Given the description of an element on the screen output the (x, y) to click on. 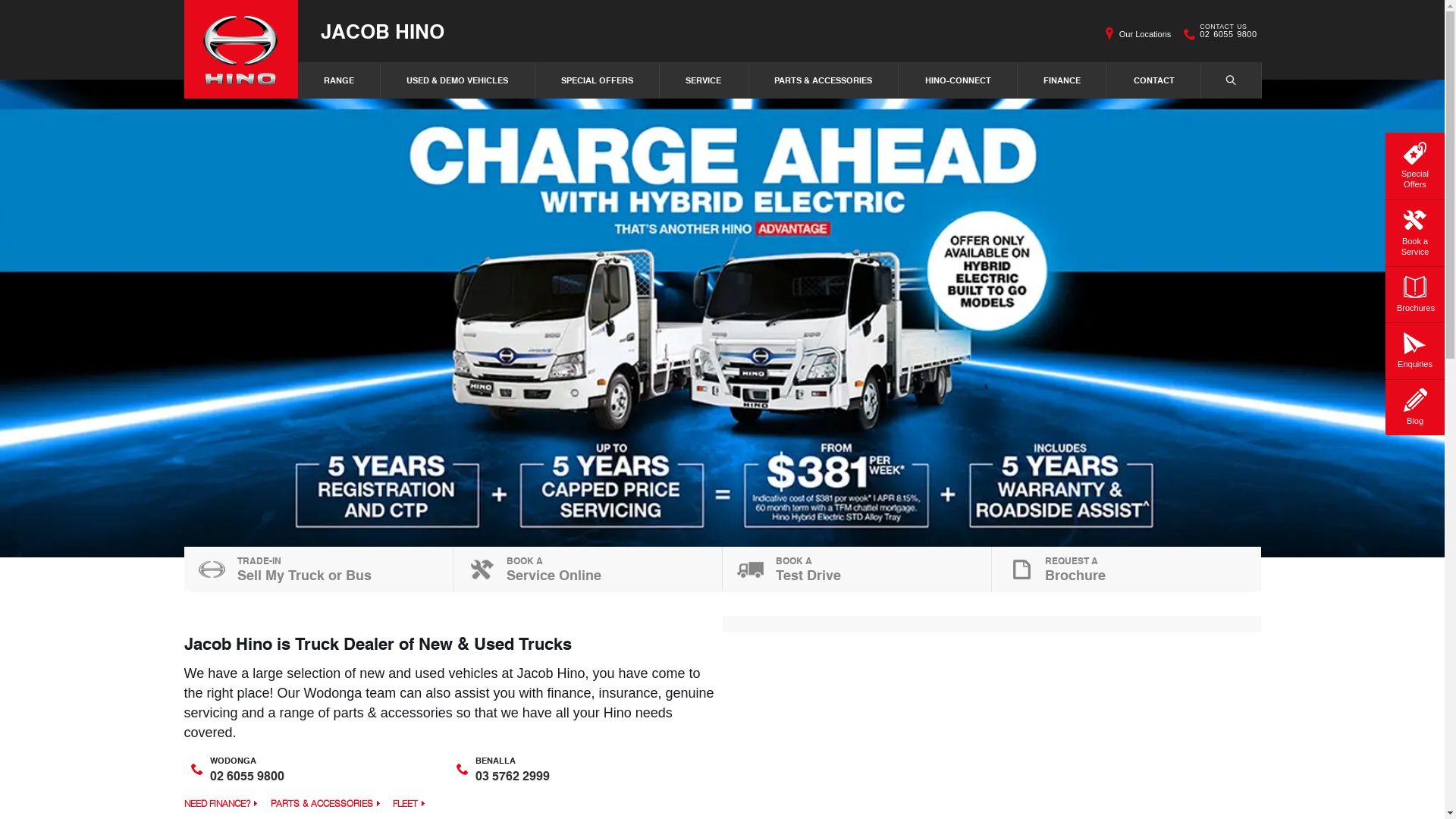
PARTS & ACCESSORIES Element type: text (823, 80)
CONTACT Element type: text (1154, 80)
SERVICE Element type: text (703, 80)
FINANCE Element type: text (1062, 80)
PARTS & ACCESSORIES Element type: text (324, 803)
FLEET Element type: text (408, 803)
NEED FINANCE? Element type: text (220, 803)
TRADE-IN
Sell My Truck or Bus Element type: text (317, 568)
SEARCH Element type: text (1231, 80)
BOOK A
Test Drive Element type: text (856, 568)
SPECIAL OFFERS Element type: text (597, 80)
Our Locations Element type: text (1144, 33)
REQUEST A
Brochure Element type: text (1126, 568)
Brochures Element type: text (1415, 291)
Special Offers Element type: text (1415, 163)
Jacob Hino Element type: hover (240, 49)
Book a Service Element type: text (1415, 230)
RANGE Element type: text (338, 80)
BOOK A
Service Online Element type: text (587, 568)
CONTACT US
02 6055 9800 Element type: text (1227, 33)
JACOB HINO Element type: text (381, 30)
Enquiries Element type: text (1415, 347)
HINO-CONNECT Element type: text (957, 80)
USED & DEMO VEHICLES Element type: text (457, 80)
Blog Element type: text (1415, 404)
